Given the description of an element on the screen output the (x, y) to click on. 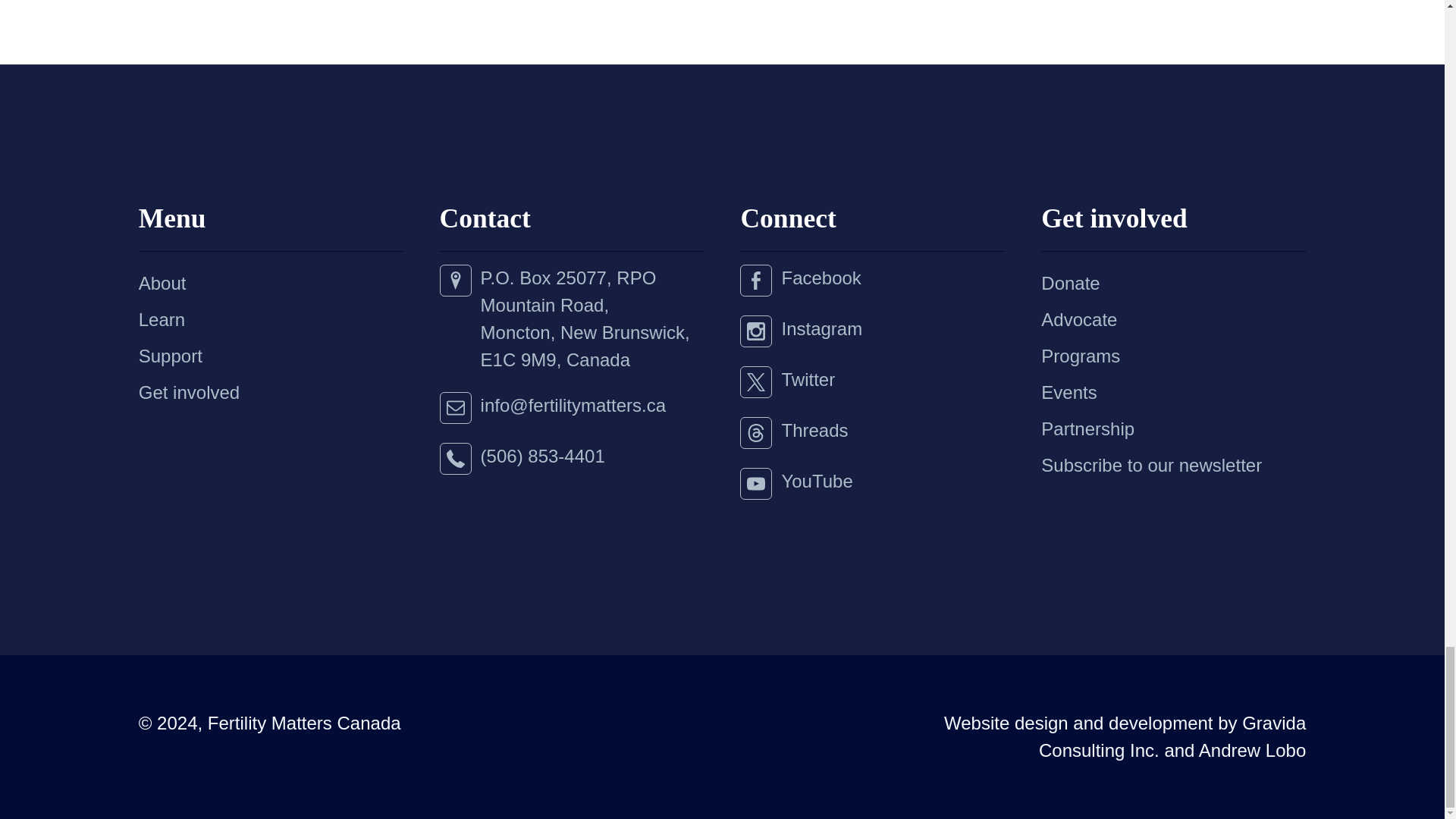
About (151, 283)
Learn (150, 319)
